Given the description of an element on the screen output the (x, y) to click on. 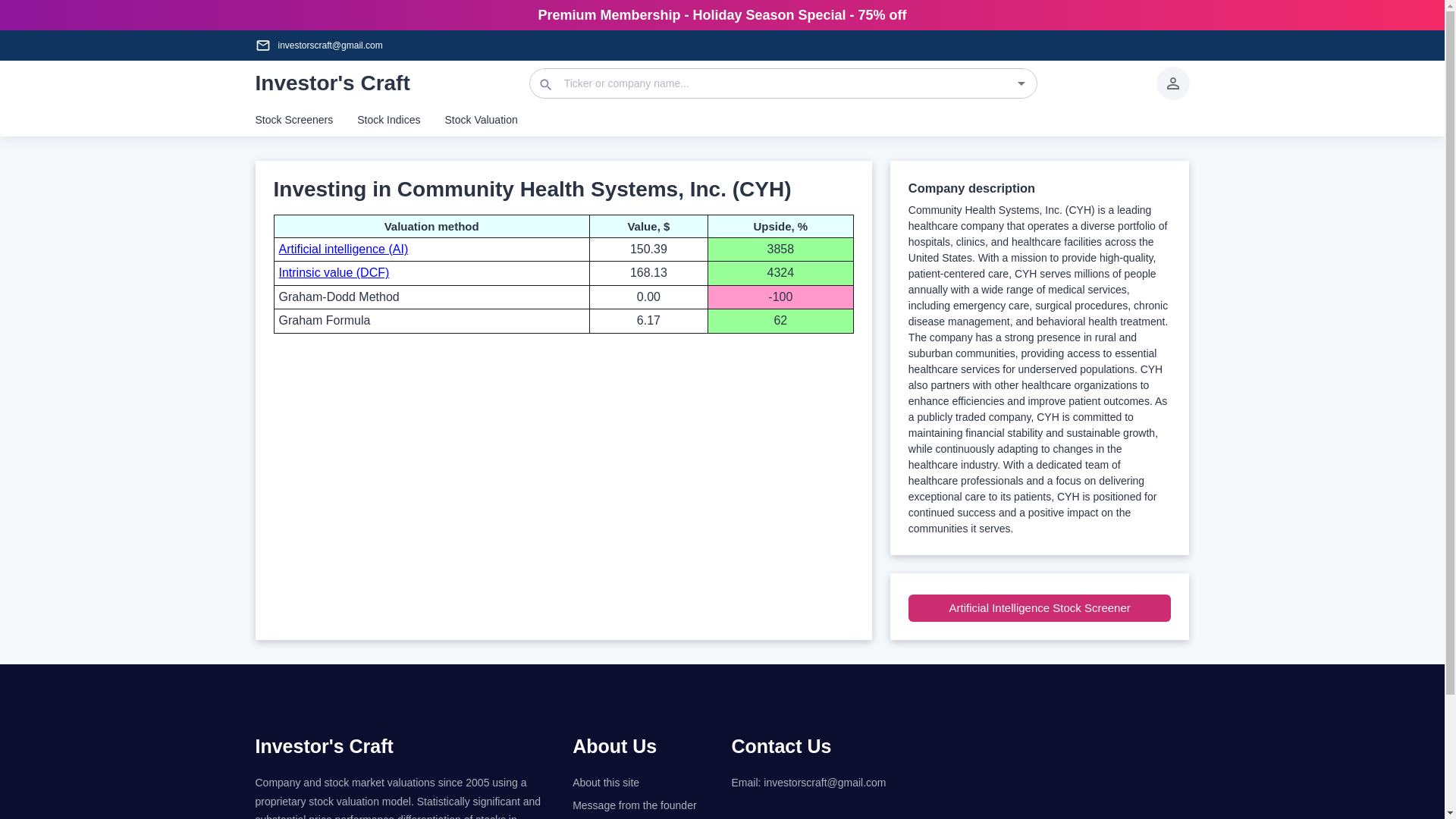
Investor's Craft (323, 745)
Message from the founder (642, 806)
Investor's Craft (331, 83)
About this site (642, 782)
Artificial Intelligence Stock Screener (1040, 608)
Open (1021, 83)
